Given the description of an element on the screen output the (x, y) to click on. 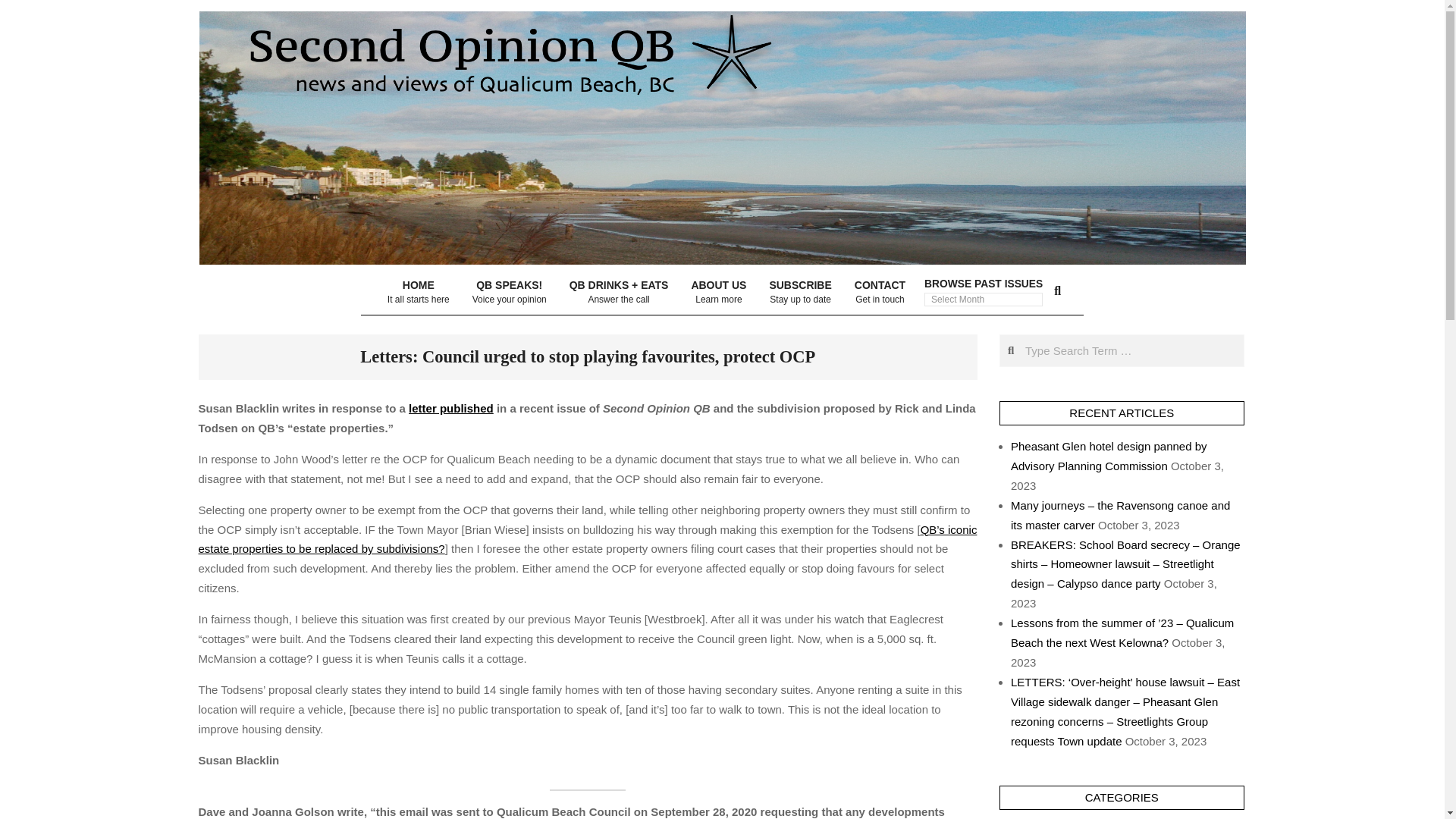
Search (718, 292)
letter published (418, 292)
